Given the description of an element on the screen output the (x, y) to click on. 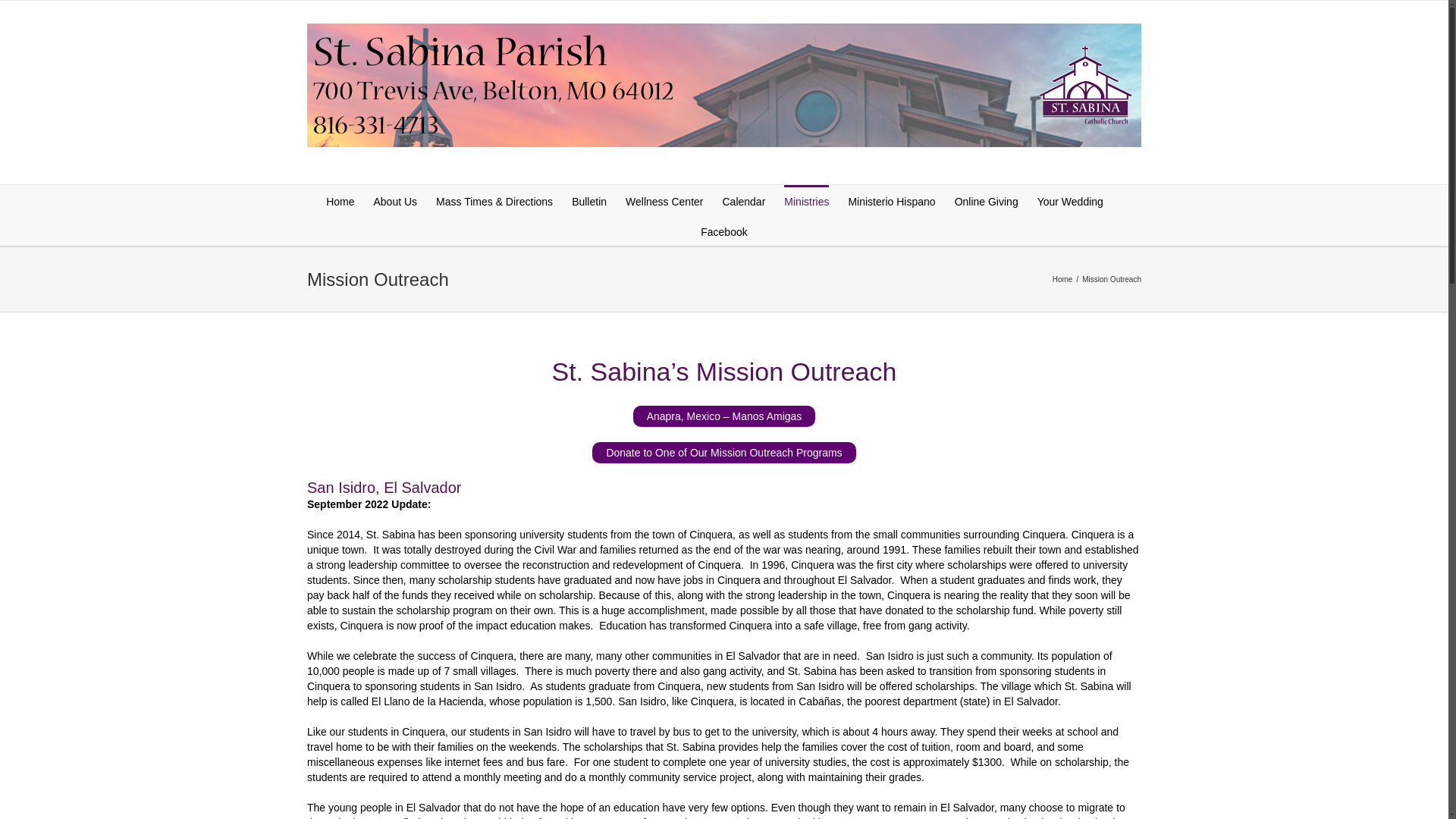
Ministerio Hispano (890, 200)
Wellness Center (664, 200)
About Us (394, 200)
Bulletin (589, 200)
Calendar (743, 200)
Home (339, 200)
Your Wedding (1069, 200)
Donate to One of Our Mission Outreach Programs (724, 452)
Facebook (723, 230)
Ministries (806, 200)
